Given the description of an element on the screen output the (x, y) to click on. 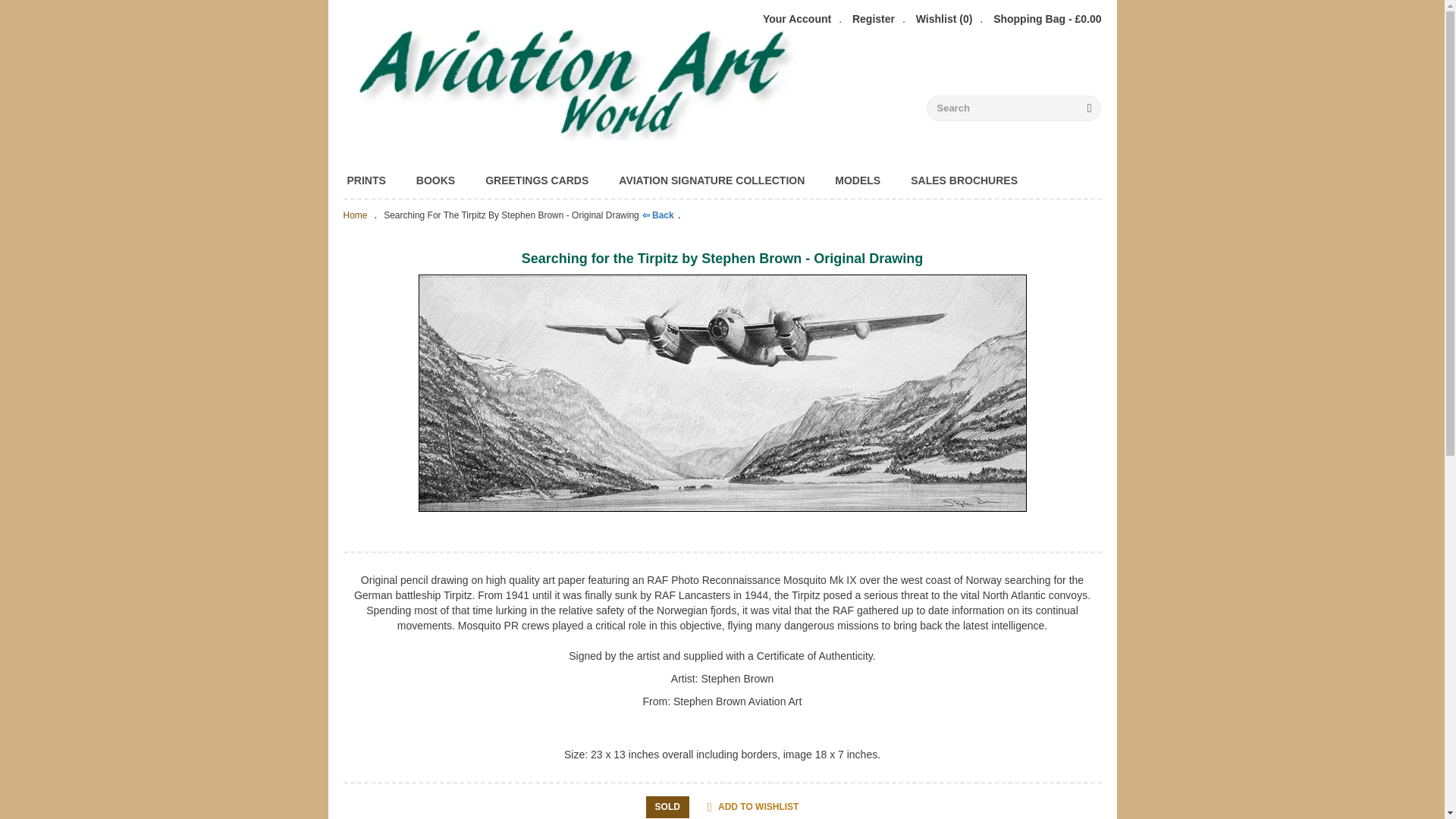
GREETINGS CARDS (536, 180)
PRINTS (365, 180)
AVIATION SIGNATURE COLLECTION (711, 180)
Your Account (796, 18)
Register (873, 18)
BOOKS (435, 180)
